Given the description of an element on the screen output the (x, y) to click on. 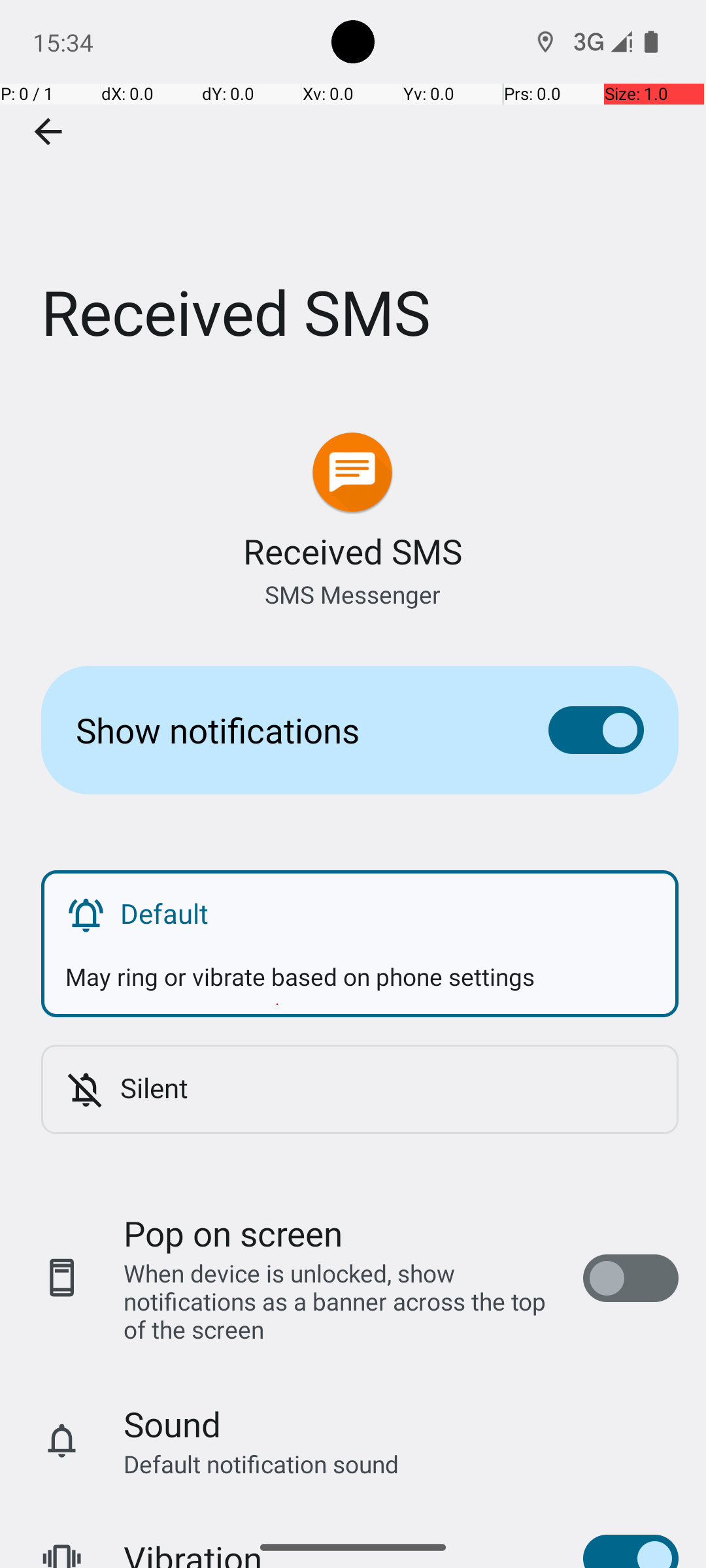
Received SMS Element type: android.widget.FrameLayout (353, 195)
Show notifications Element type: android.widget.TextView (291, 729)
Pop on screen Element type: android.widget.TextView (233, 1232)
When device is unlocked, show notifications as a banner across the top of the screen Element type: android.widget.TextView (339, 1300)
Sound Element type: android.widget.TextView (171, 1423)
Default notification sound Element type: android.widget.TextView (260, 1463)
Default Element type: android.widget.TextView (387, 912)
May ring or vibrate based on phone settings Element type: android.widget.TextView (359, 964)
Silent Element type: android.widget.TextView (387, 1087)
